Given the description of an element on the screen output the (x, y) to click on. 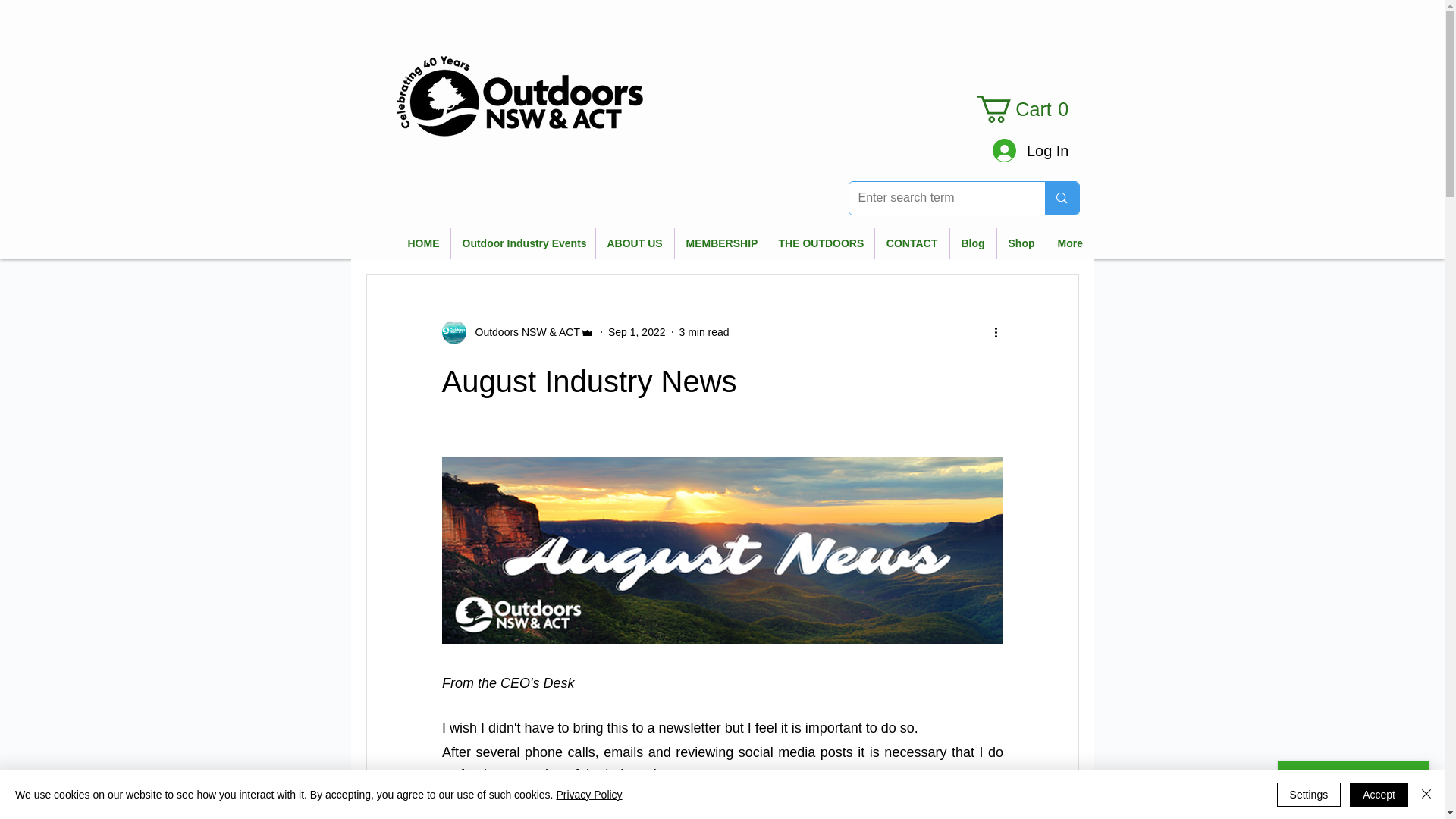
MEMBERSHIP (721, 243)
ABOUT US (634, 243)
3 min read (704, 331)
Shop (1020, 243)
HOME (422, 243)
Sep 1, 2022 (636, 331)
CONTACT (912, 243)
Log In (1030, 150)
Outdoor Industry Events (521, 243)
